Given the description of an element on the screen output the (x, y) to click on. 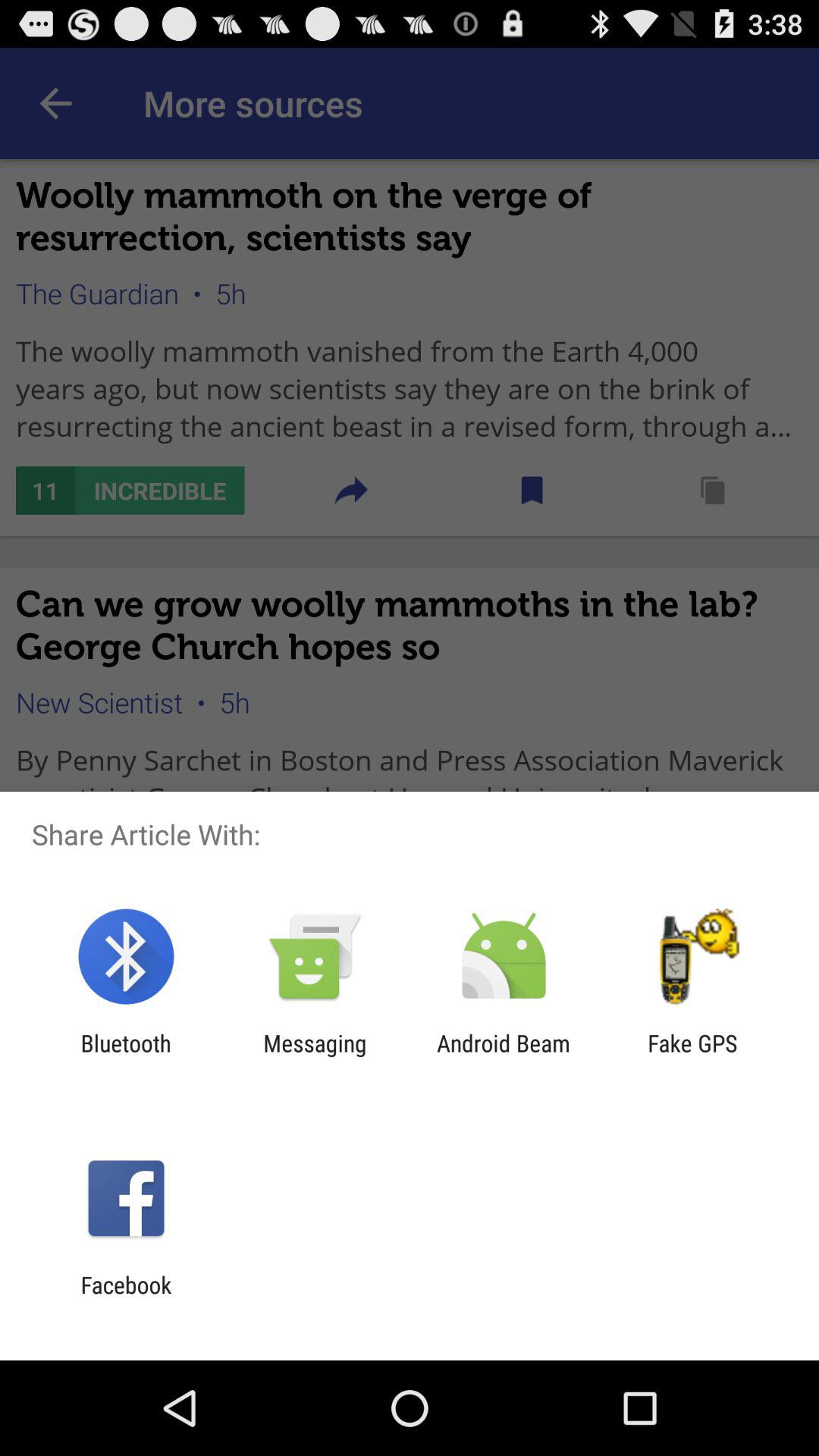
jump until the android beam item (503, 1056)
